Given the description of an element on the screen output the (x, y) to click on. 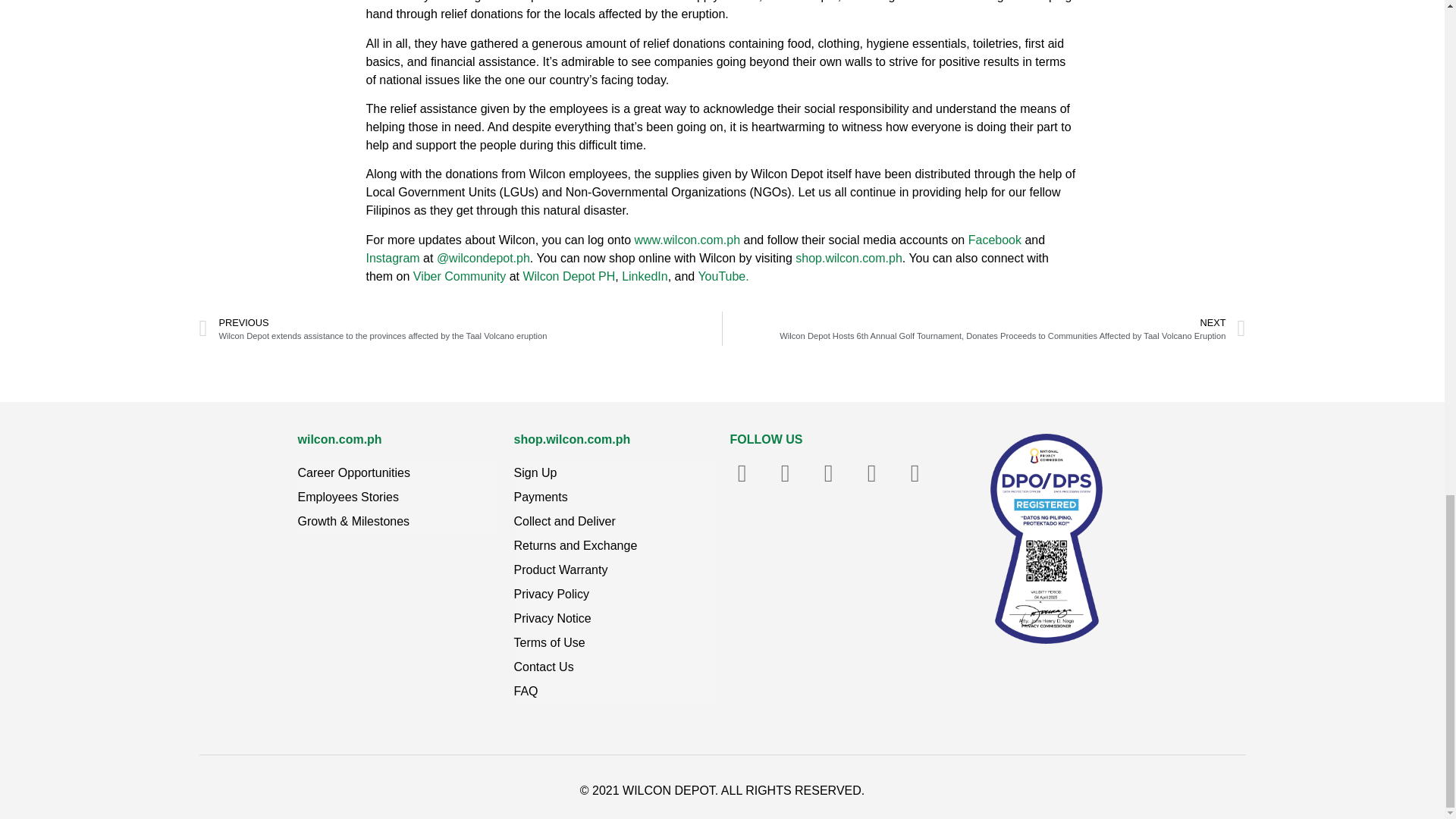
Wilcon Depot PH (568, 276)
Instagram (392, 257)
shop.wilcon.com.ph (848, 257)
www.wilcon.com.ph (686, 239)
Viber Community (459, 276)
Facebook (995, 239)
